Given the description of an element on the screen output the (x, y) to click on. 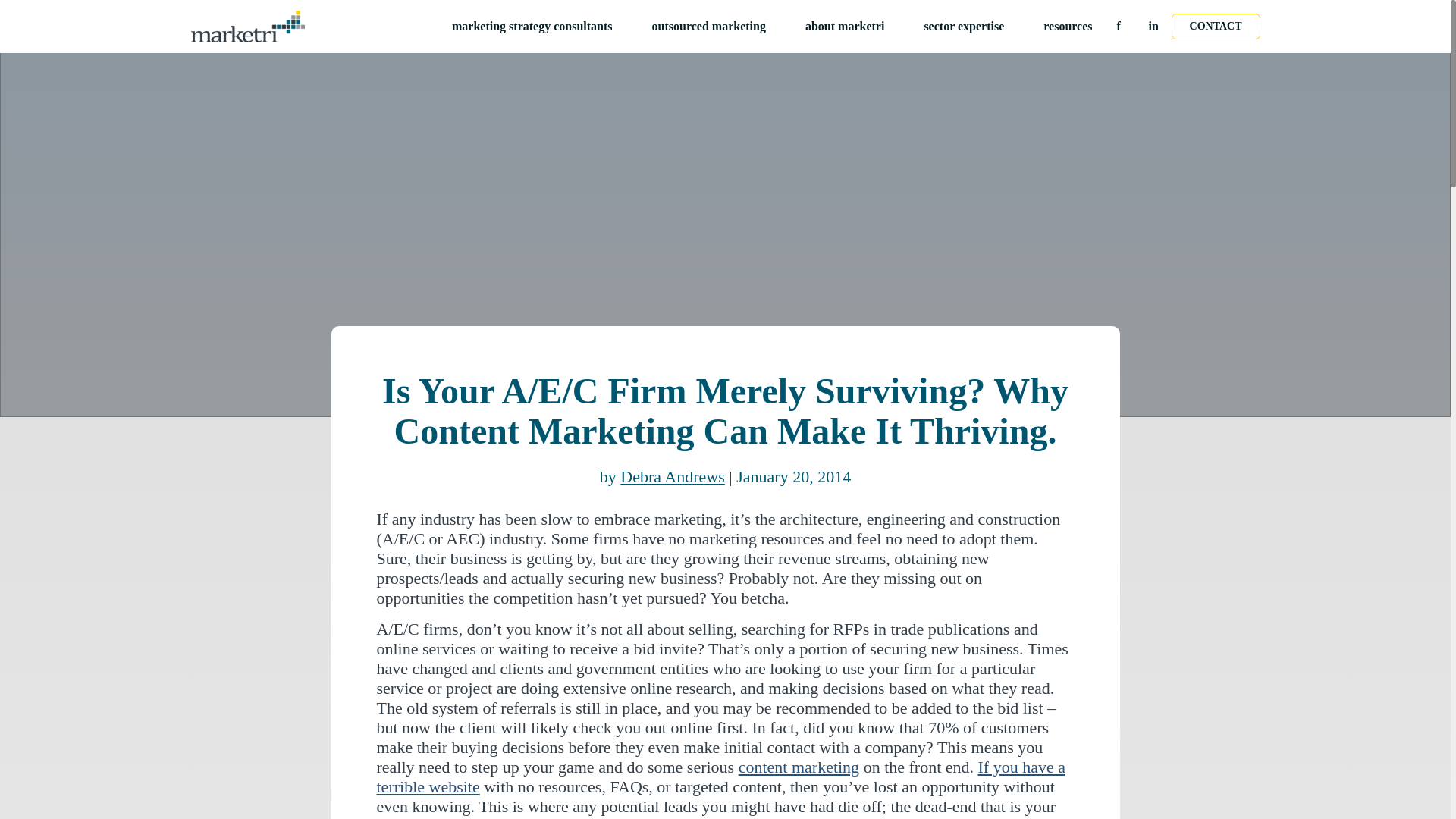
CONTACT (1216, 26)
sector expertise (971, 26)
If you have a terrible website (719, 776)
in (1153, 26)
about marketri (852, 26)
marketing strategy consultants (539, 26)
Marketri (247, 25)
outsourced marketing (716, 26)
content marketing (798, 766)
resources (1067, 26)
Debra Andrews (671, 476)
f (1118, 26)
